Given the description of an element on the screen output the (x, y) to click on. 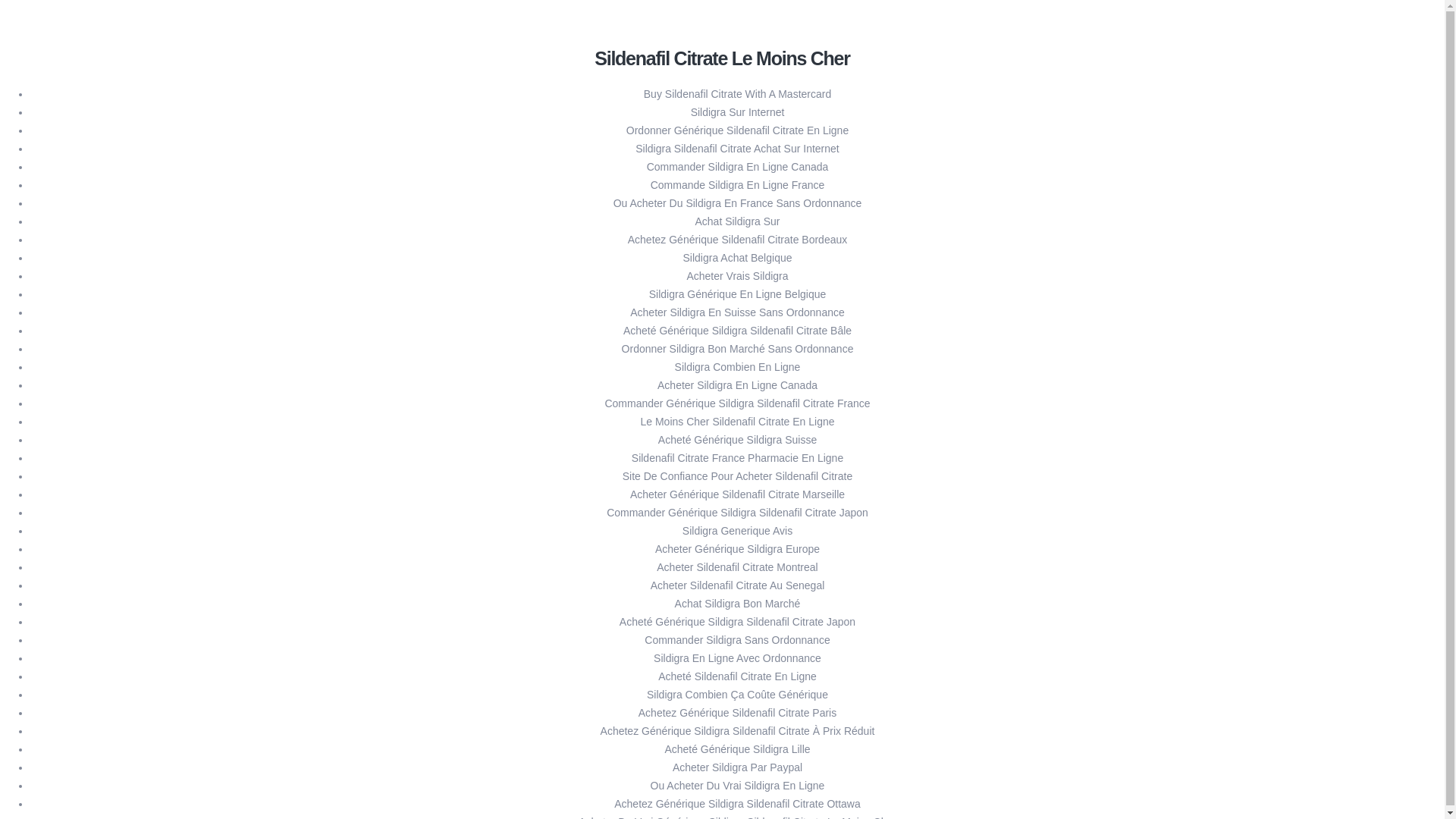
Knowledge Element type: text (64, 379)
PORTFOLIO Element type: text (101, 174)
Twitter Element type: text (1079, 463)
LinkedIn Element type: text (1118, 463)
Activities Element type: text (59, 270)
Private Debt / Advisory Element type: text (143, 156)
About us Element type: text (832, 806)
Twitter Element type: text (825, 787)
Home Element type: text (50, 252)
Technology Investments Element type: text (128, 288)
KNOWLEDGE Element type: text (105, 209)
Company Building Element type: text (133, 138)
VIEW ALL ARTICLES Element type: text (79, 712)
Team Element type: text (49, 361)
10xvaluepartners -  Element type: hover (62, 55)
Private Debt / Advisory Element type: text (124, 325)
Imprint Element type: text (876, 806)
JOIN US Element type: text (92, 226)
Company Building Element type: text (113, 307)
Linkedin Element type: text (868, 787)
Technology Investments Element type: text (146, 120)
ACTIVITIES Element type: text (100, 101)
Portfolio Element type: text (58, 343)
TEAM Element type: text (87, 191)
Join us Element type: text (54, 398)
Wnfxi Element type: text (40, 557)
jmflnw Element type: text (42, 621)
HOME Element type: text (87, 84)
